Given the description of an element on the screen output the (x, y) to click on. 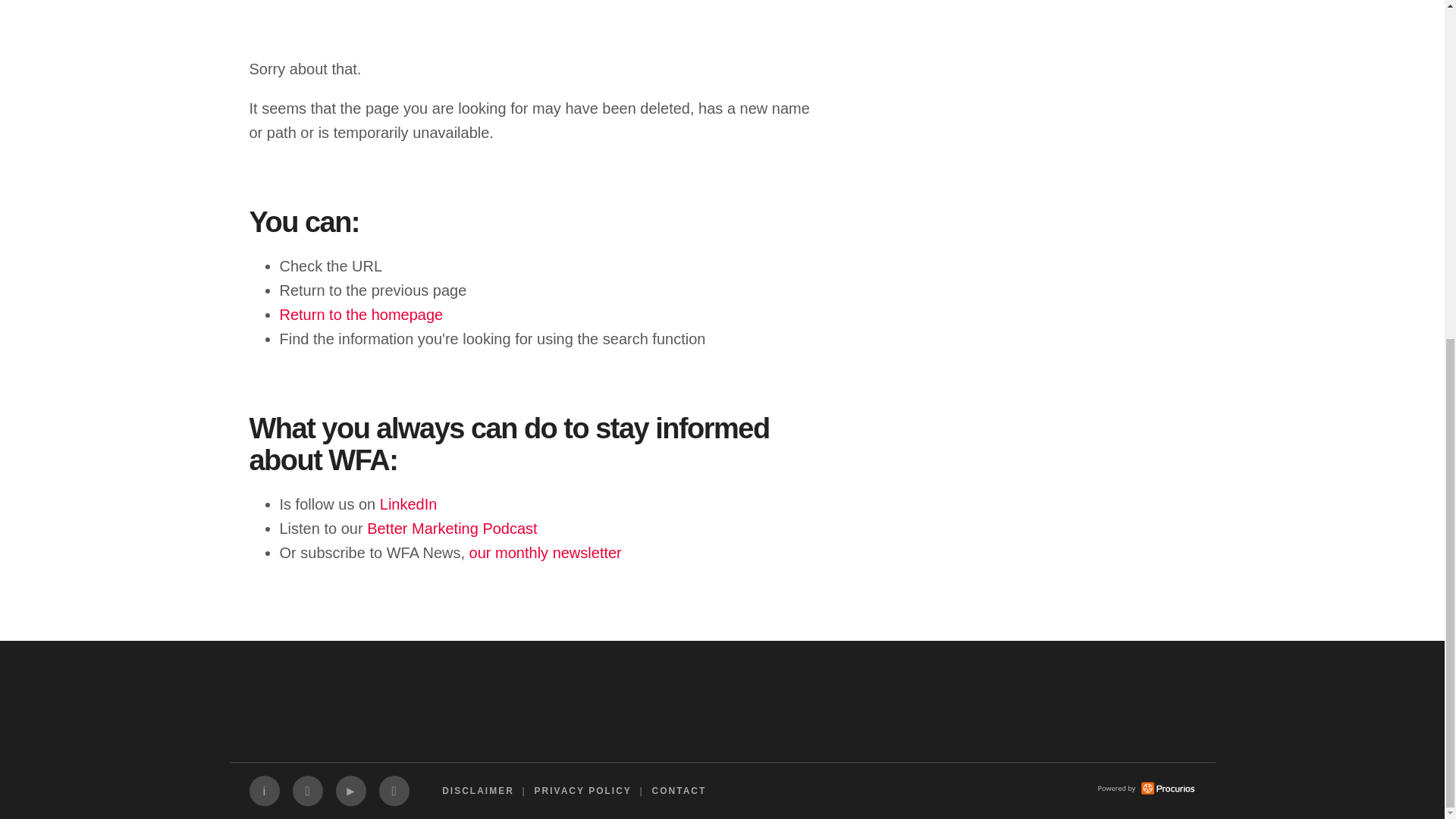
View our Youtube page (349, 790)
Follow us on X (307, 790)
Follow us on Spotify (393, 790)
Join our LinkedIn group (263, 790)
